Given the description of an element on the screen output the (x, y) to click on. 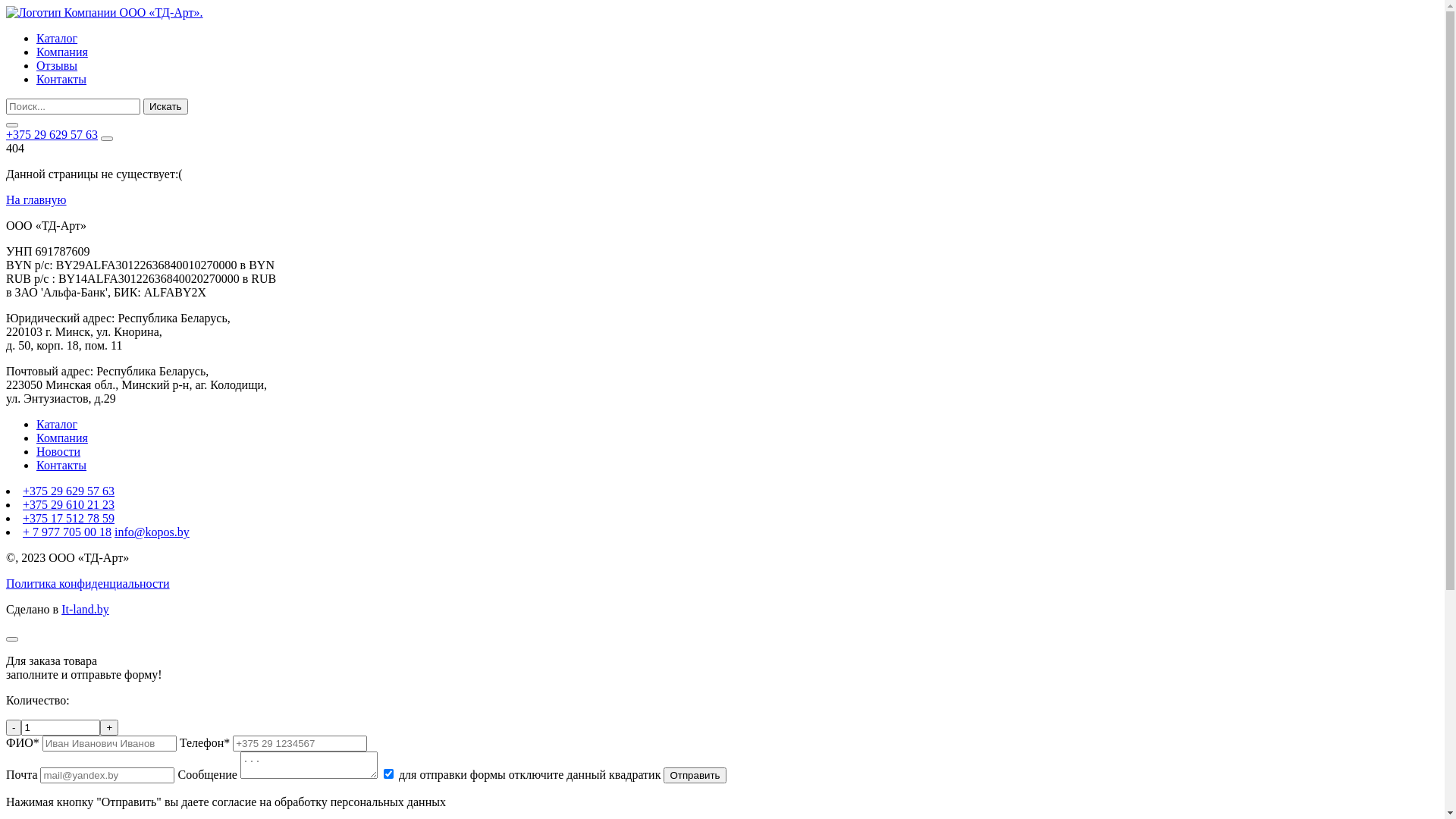
+ Element type: text (109, 727)
+375 29 629 57 63 Element type: text (68, 490)
It-land.by Element type: text (85, 608)
info@kopos.by Element type: text (151, 531)
+375 29 629 57 63 Element type: text (51, 134)
+ 7 977 705 00 18 Element type: text (66, 531)
+375 29 610 21 23 Element type: text (68, 504)
- Element type: text (13, 727)
+375 17 512 78 59 Element type: text (68, 517)
